Given the description of an element on the screen output the (x, y) to click on. 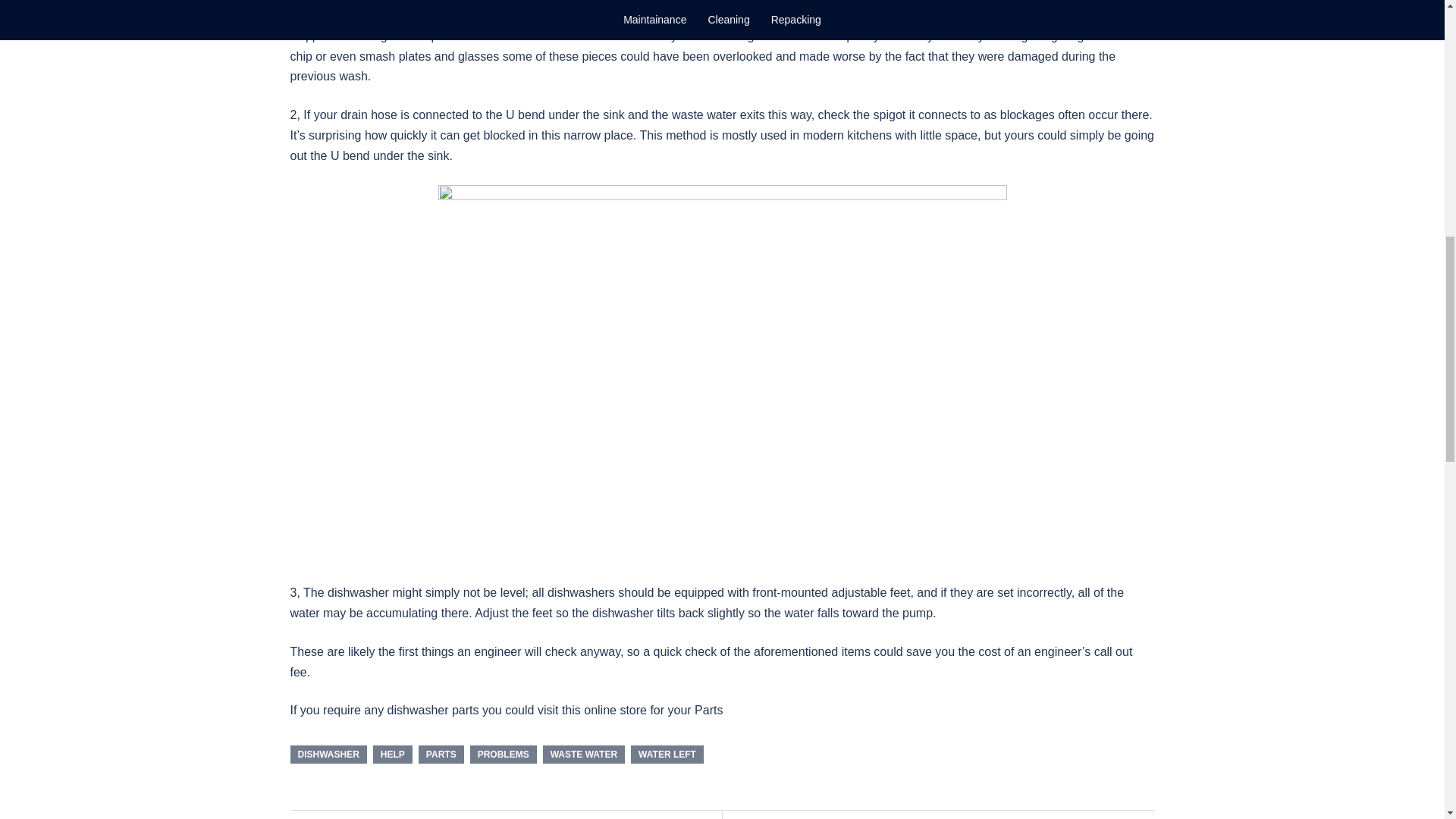
PROBLEMS (503, 754)
PARTS (441, 754)
WATER LEFT (666, 754)
WASTE WATER (583, 754)
HELP (392, 754)
DISHWASHER (327, 754)
